Given the description of an element on the screen output the (x, y) to click on. 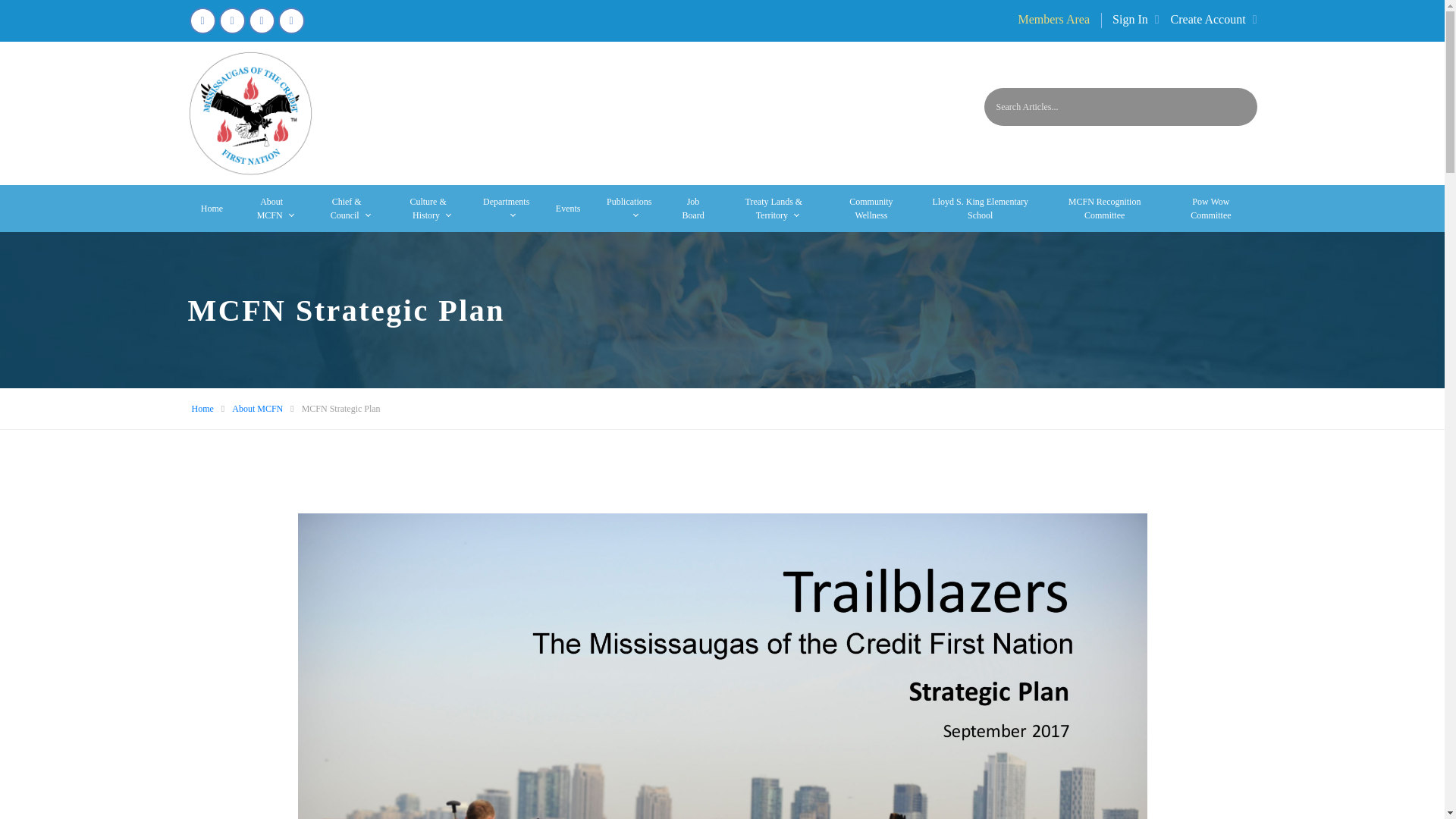
About MCFN (271, 208)
Create Account (1213, 20)
Departments (506, 208)
About MCFN (256, 408)
MCFN Strategic Plan (340, 408)
Sign In (1135, 20)
